Given the description of an element on the screen output the (x, y) to click on. 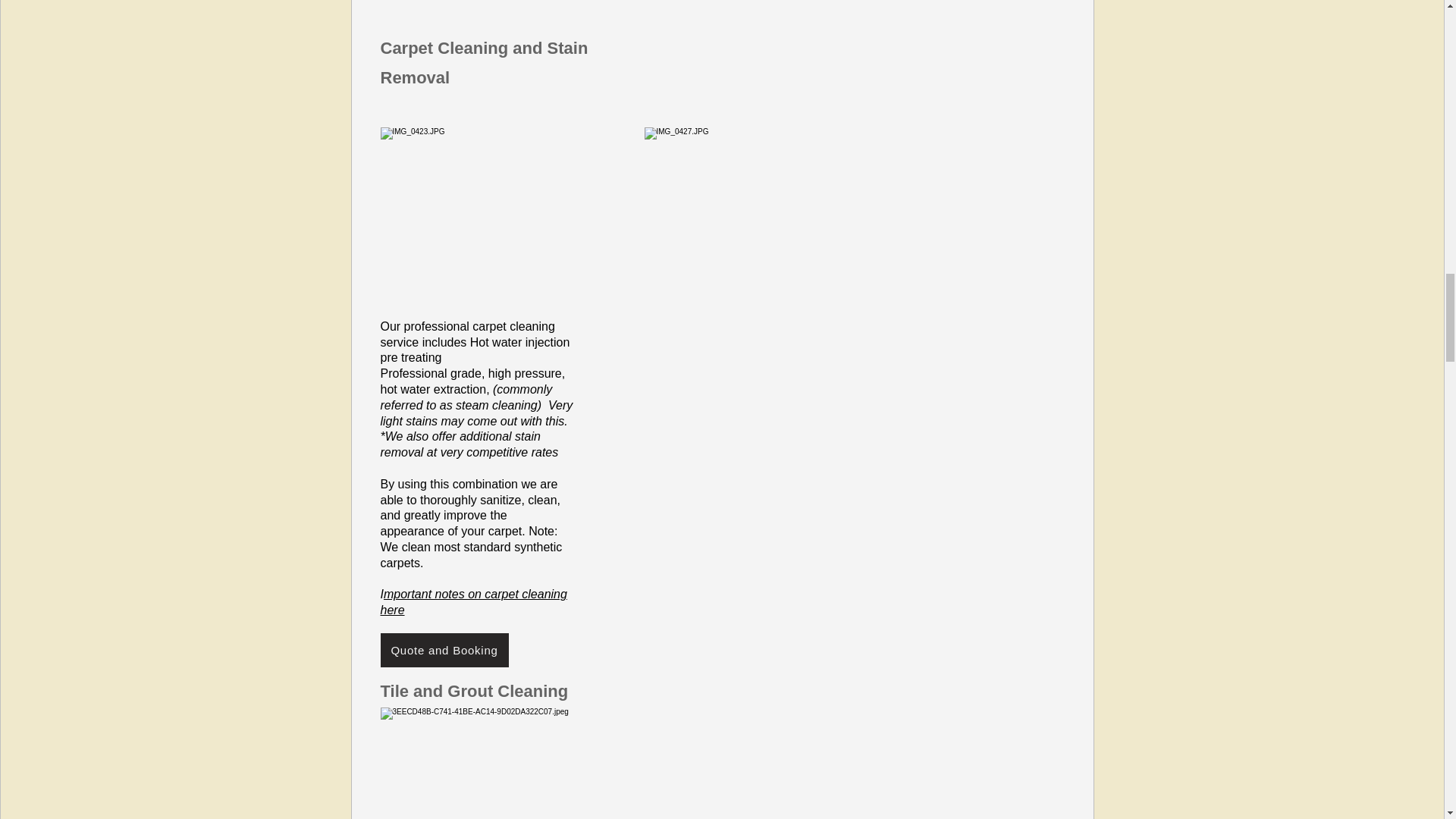
mportant notes on carpet cleaning here (473, 602)
Quote and Booking (444, 650)
